Given the description of an element on the screen output the (x, y) to click on. 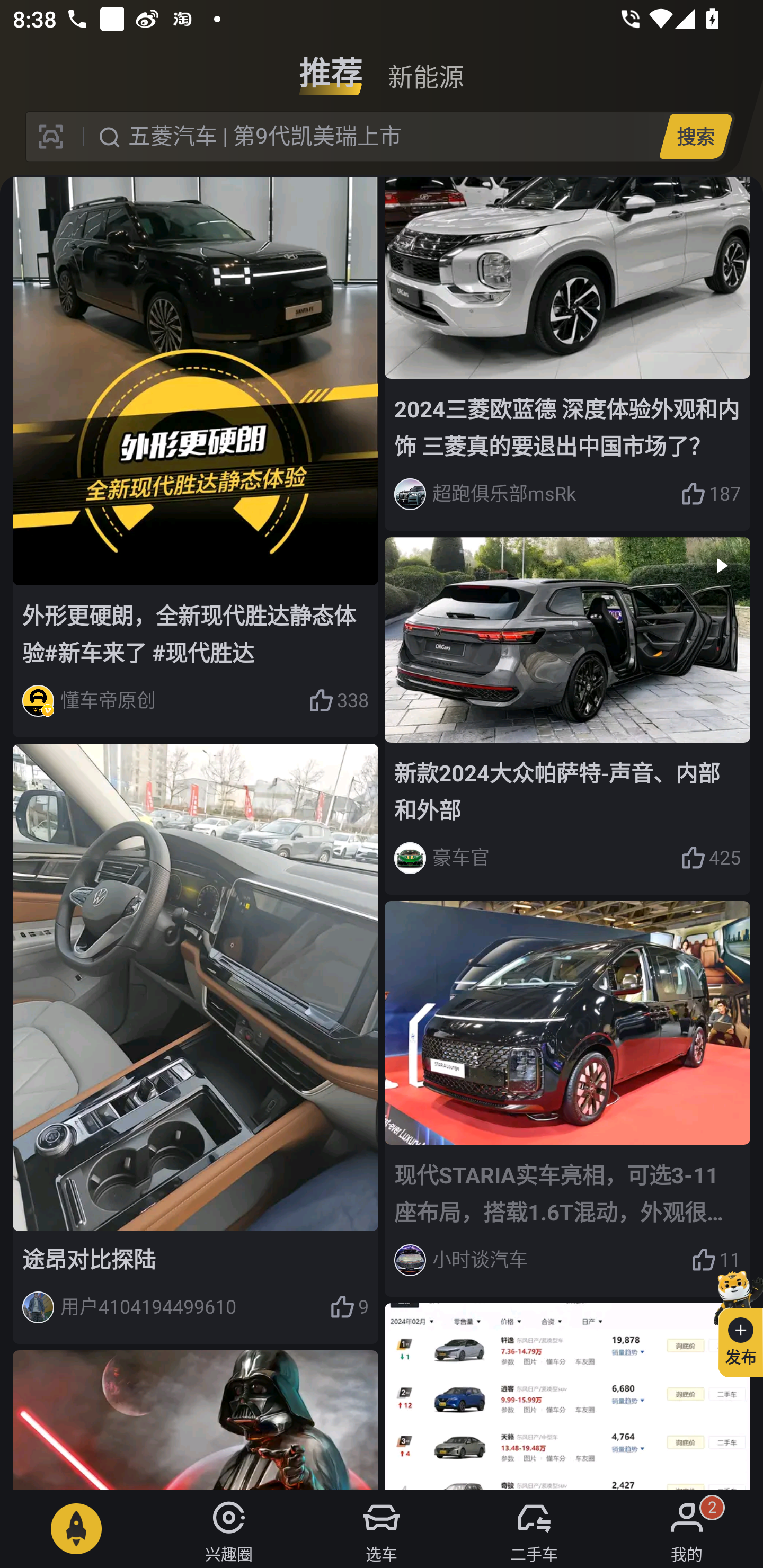
推荐 (330, 65)
新能源 (425, 65)
搜索 (695, 136)
外形更硬朗，全新现代胜达静态体验#新车来了 #现代胜达 懂车帝原创 338 (195, 456)
 2024三菱欧蓝德 深度体验外观和内饰 三菱真的要退出中国市场了？ 超跑俱乐部msRk 187 (567, 354)
187 (710, 493)
 新款2024大众帕萨特-声音、内部和外部 豪车官 425 (567, 716)
338 (338, 700)
途昂对比探陆 用户4104194499610 9 (195, 1043)
425 (710, 857)
现代STARIA实车亮相，可选3-11座布局，搭载1.6T混动，外观很时尚 小时谈汽车 11 (567, 1098)
11 (715, 1260)
发布 (732, 1321)
9 (348, 1307)
 兴趣圈 (228, 1528)
 选车 (381, 1528)
 二手车 (533, 1528)
 我的 (686, 1528)
